Given the description of an element on the screen output the (x, y) to click on. 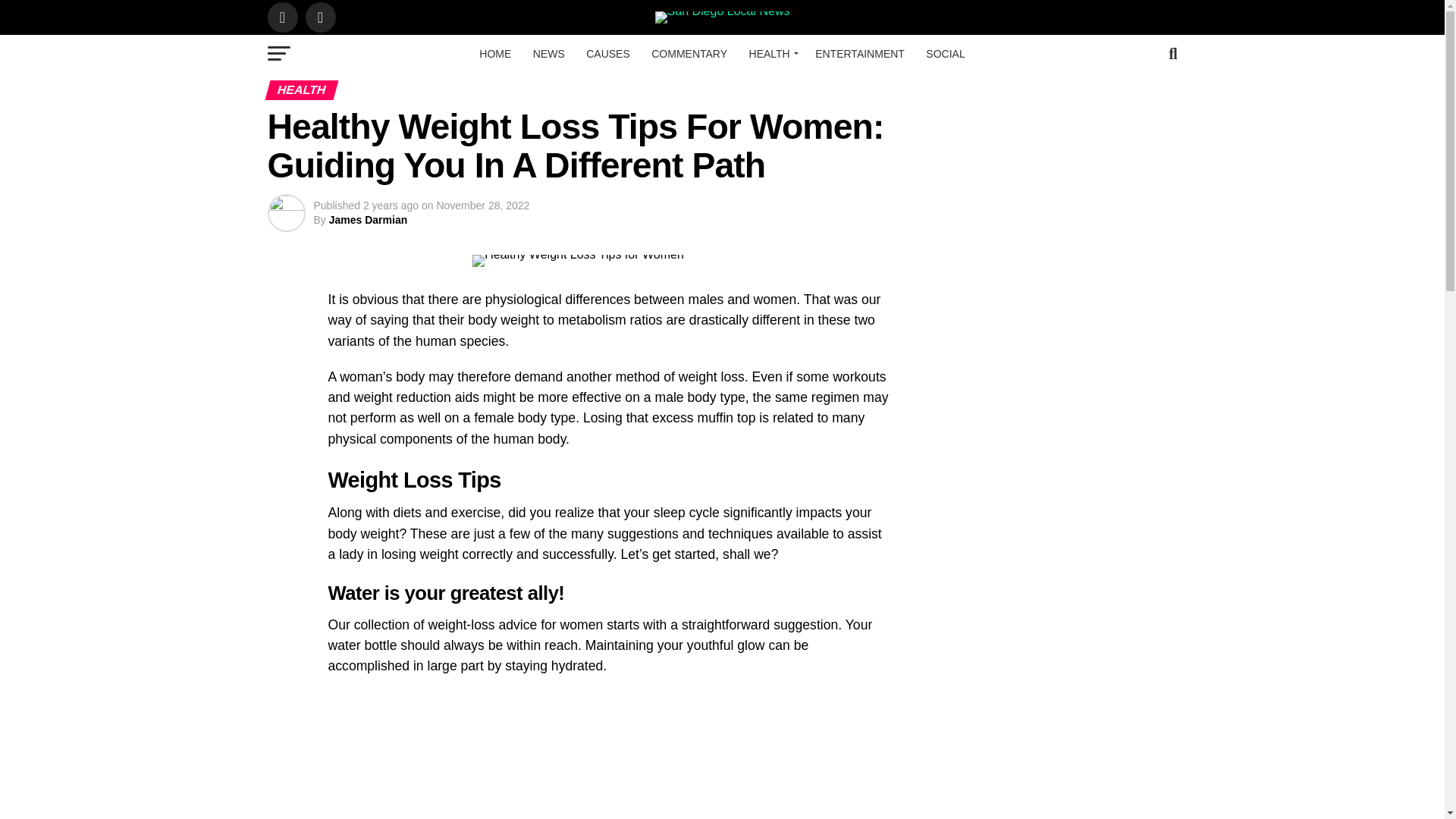
ENTERTAINMENT (860, 53)
James Darmian (368, 219)
CAUSES (607, 53)
COMMENTARY (689, 53)
HOME (494, 53)
HEALTH (771, 53)
Posts by James Darmian (368, 219)
NEWS (548, 53)
SOCIAL (945, 53)
